Given the description of an element on the screen output the (x, y) to click on. 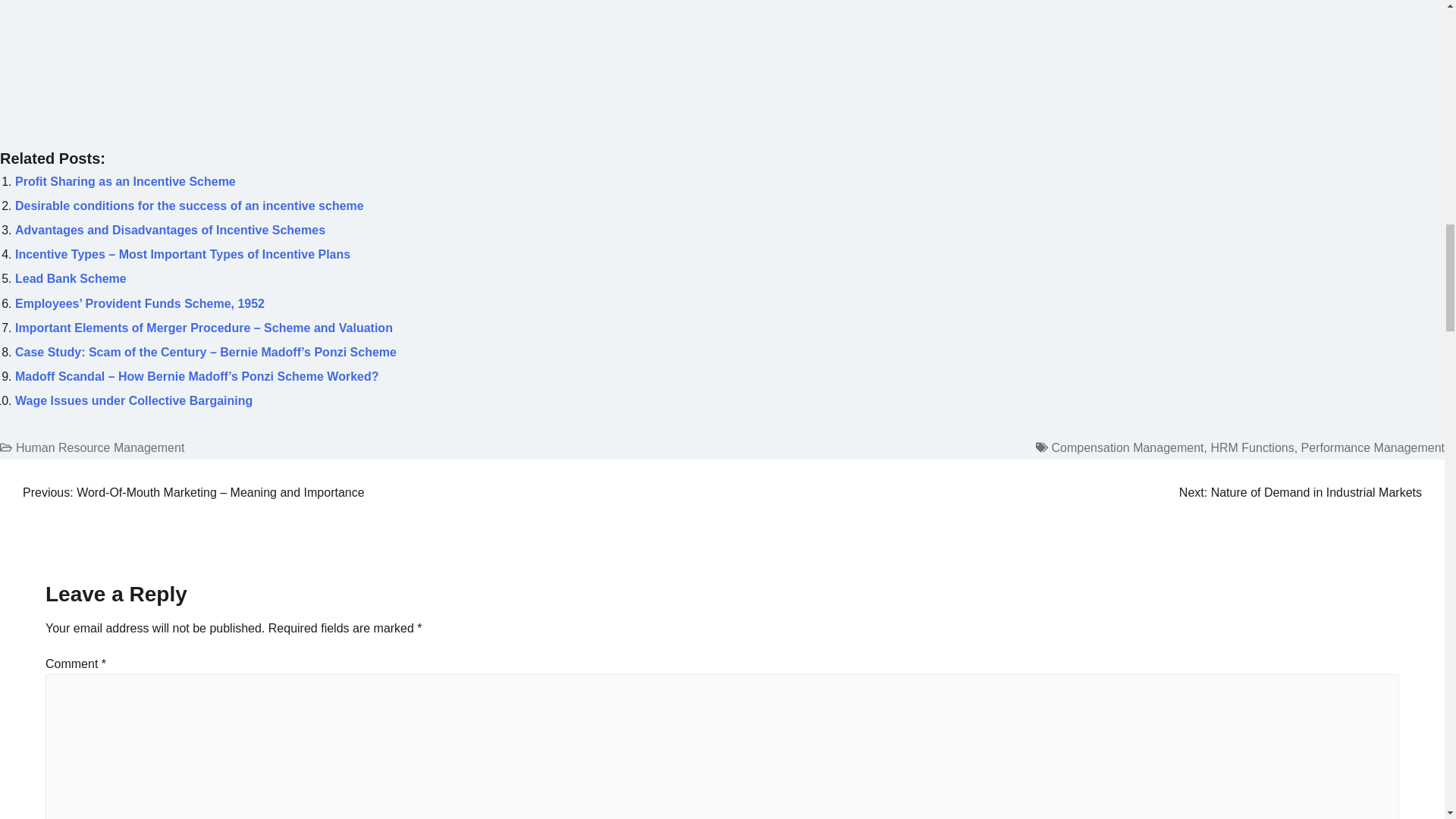
Desirable conditions for the success of an incentive scheme (189, 205)
Wage Issues under Collective Bargaining (132, 400)
Human Resource Management (100, 447)
Lead Bank Scheme (70, 278)
Advantages and Disadvantages of Incentive Schemes (169, 229)
Desirable conditions for the success of an incentive scheme (189, 205)
Advantages and Disadvantages of Incentive Schemes (169, 229)
Compensation Management (1127, 447)
Lead Bank Scheme (70, 278)
HRM Functions (1251, 447)
Profit Sharing as an Incentive Scheme (124, 181)
Wage Issues under Collective Bargaining (132, 400)
Profit Sharing as an Incentive Scheme (124, 181)
